Given the description of an element on the screen output the (x, y) to click on. 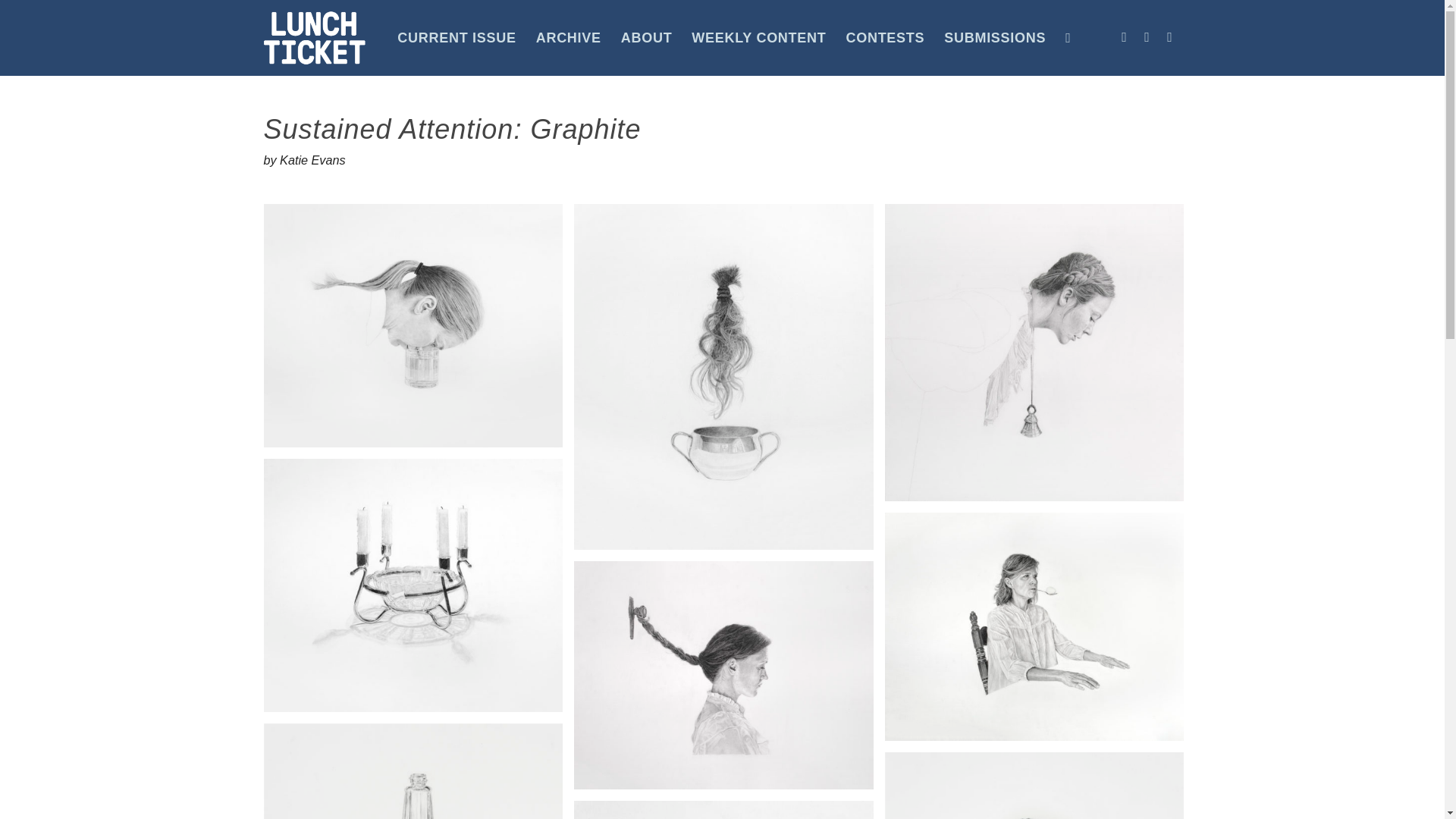
Instagram (1146, 36)
Facebook (1124, 36)
X (1169, 36)
lunch ticket logo white text-only (314, 38)
ARCHIVE (568, 38)
CURRENT ISSUE (456, 38)
